Given the description of an element on the screen output the (x, y) to click on. 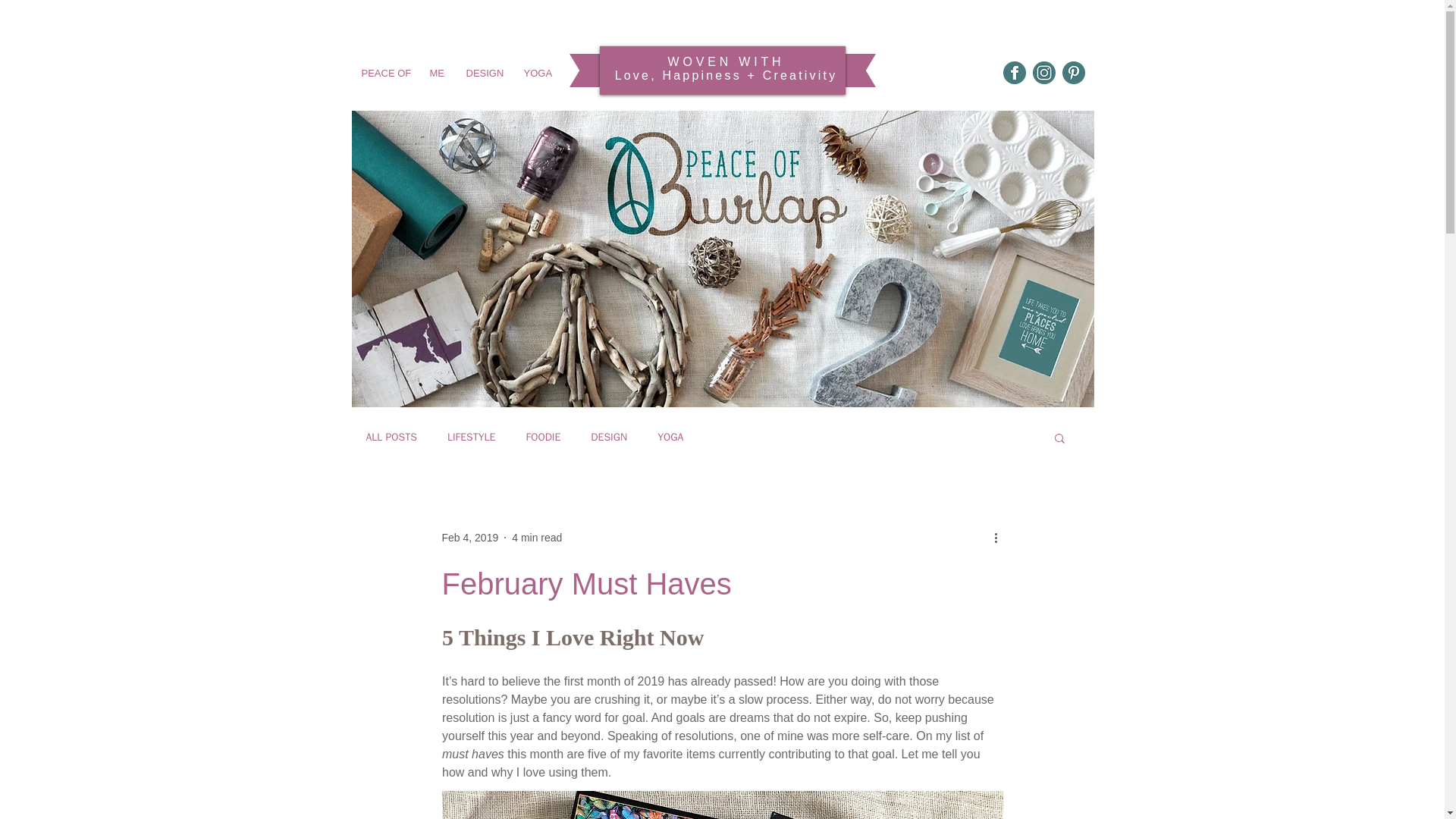
FOODIE (542, 437)
ALL POSTS (390, 437)
4 min read (537, 536)
WOVEN WITH (726, 61)
YOGA (537, 72)
LIFESTYLE (471, 437)
DESIGN (483, 72)
Feb 4, 2019 (469, 536)
DESIGN (609, 437)
